Given the description of an element on the screen output the (x, y) to click on. 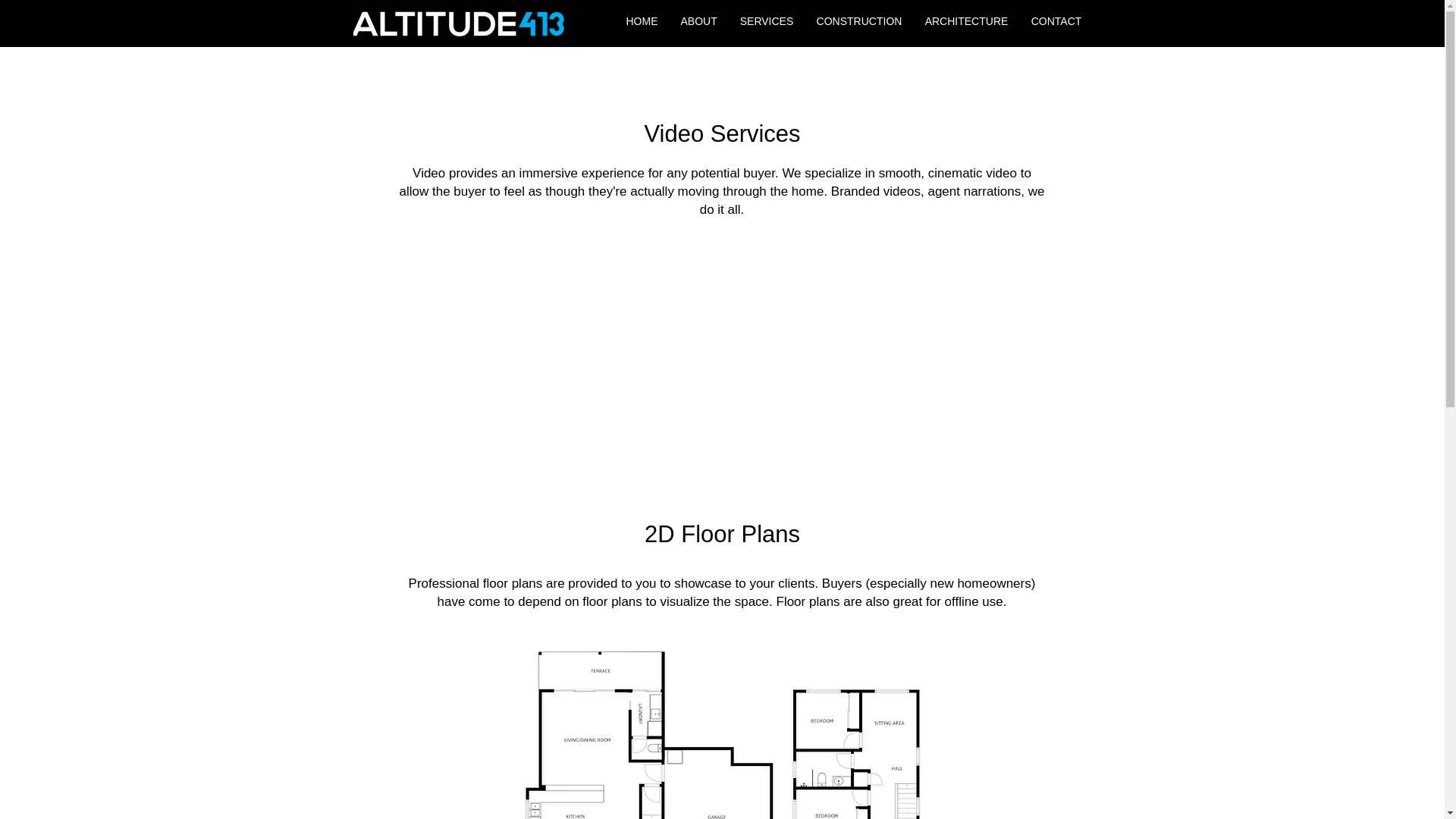
SERVICES (766, 21)
ABOUT (698, 21)
CONSTRUCTION (859, 21)
ARCHITECTURE (965, 21)
HOME (641, 21)
CONTACT (1056, 21)
